Given the description of an element on the screen output the (x, y) to click on. 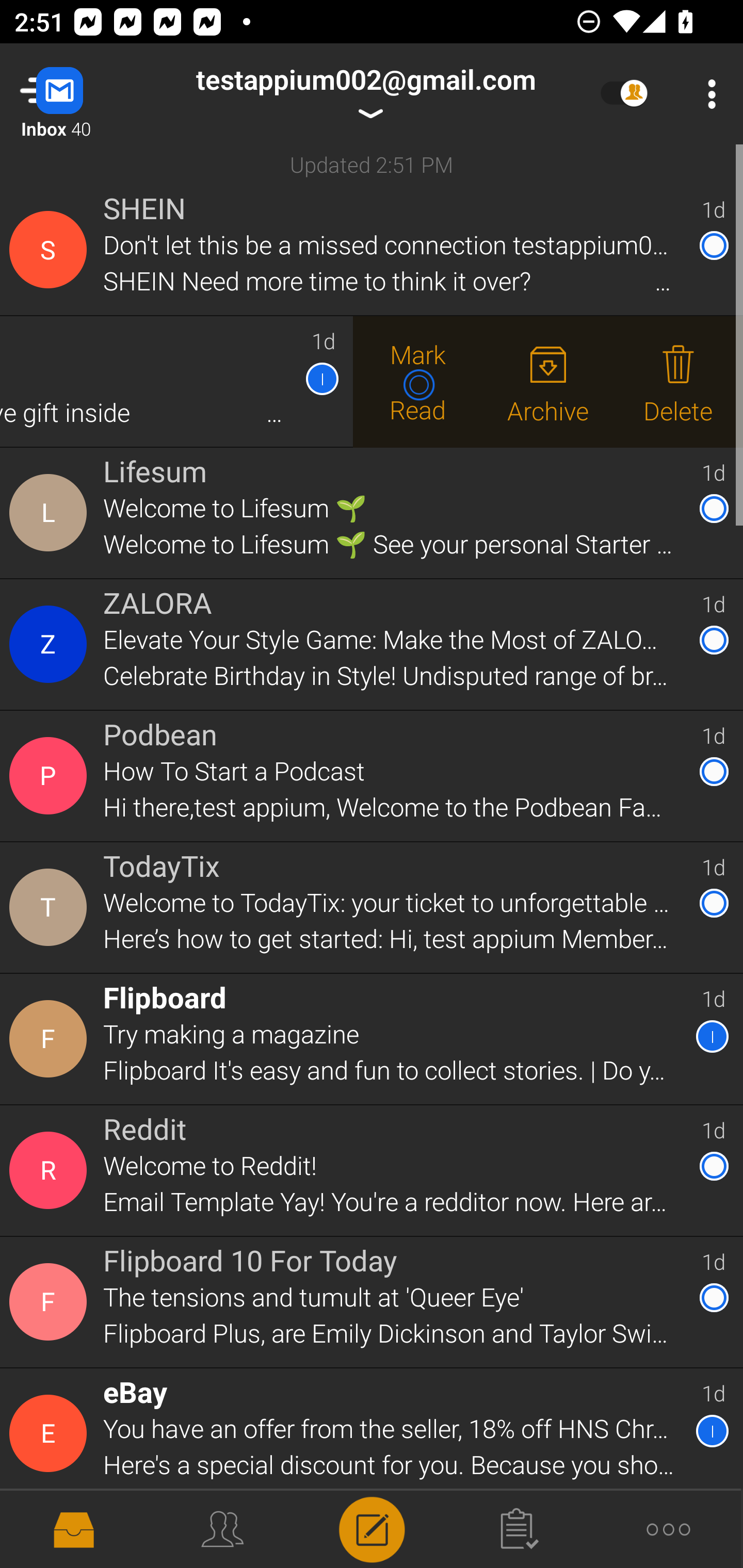
Navigate up (81, 93)
testappium002@gmail.com (365, 93)
More Options (706, 93)
Updated 2:51 PM (371, 164)
Contact Details (50, 250)
Mark Read (417, 382)
Archive (547, 382)
Delete (677, 382)
Contact Details (50, 513)
Contact Details (50, 644)
Contact Details (50, 776)
Contact Details (50, 907)
Contact Details (50, 1038)
Contact Details (50, 1170)
Contact Details (50, 1302)
Contact Details (50, 1433)
